Given the description of an element on the screen output the (x, y) to click on. 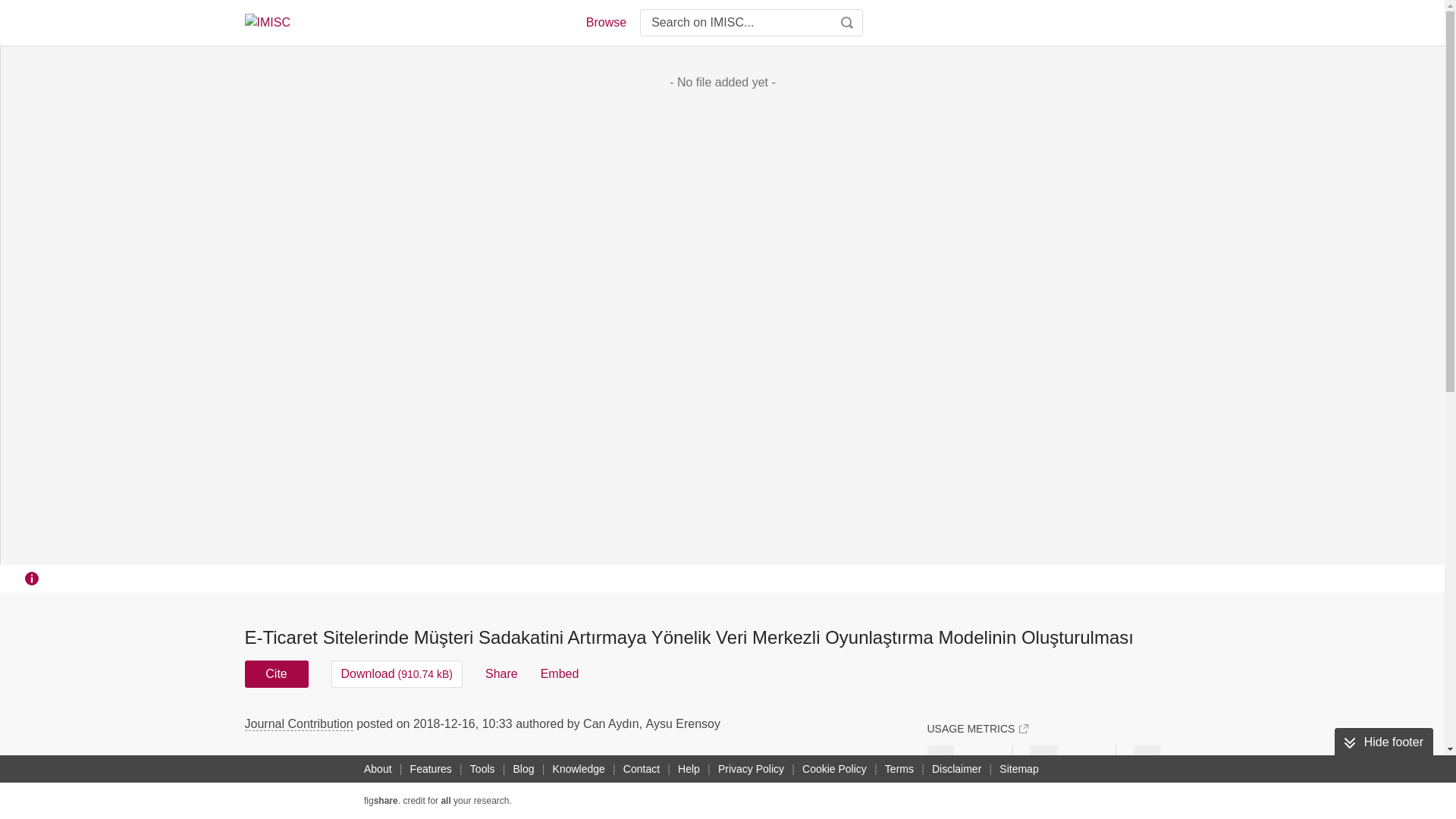
USAGE METRICS (976, 728)
Cite (275, 673)
Knowledge (579, 769)
Share (501, 673)
Embed (559, 673)
Cookie Policy (833, 769)
Terms (899, 769)
About (377, 769)
Help (688, 769)
Tools (482, 769)
